Given the description of an element on the screen output the (x, y) to click on. 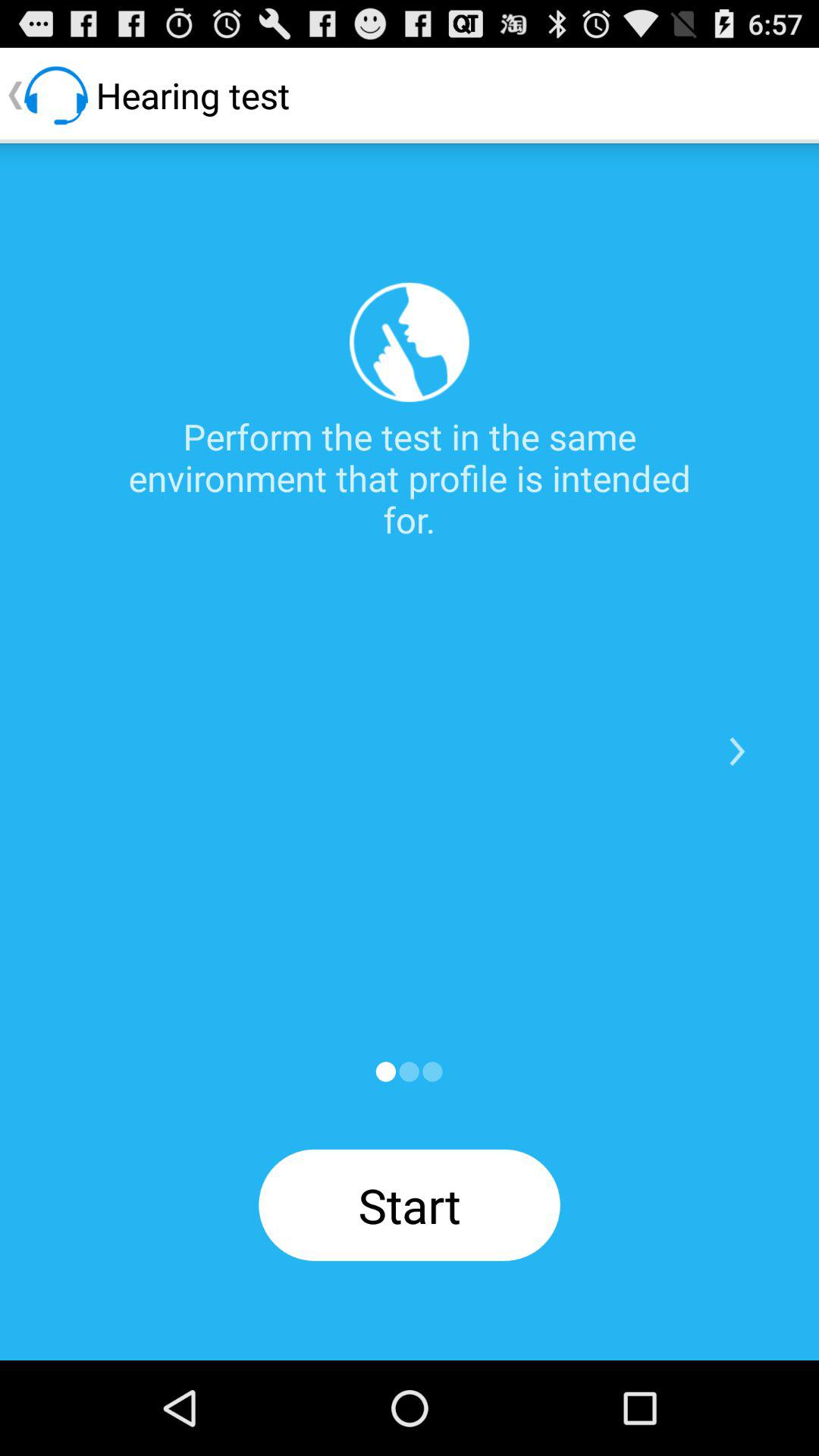
next page (409, 1071)
